Given the description of an element on the screen output the (x, y) to click on. 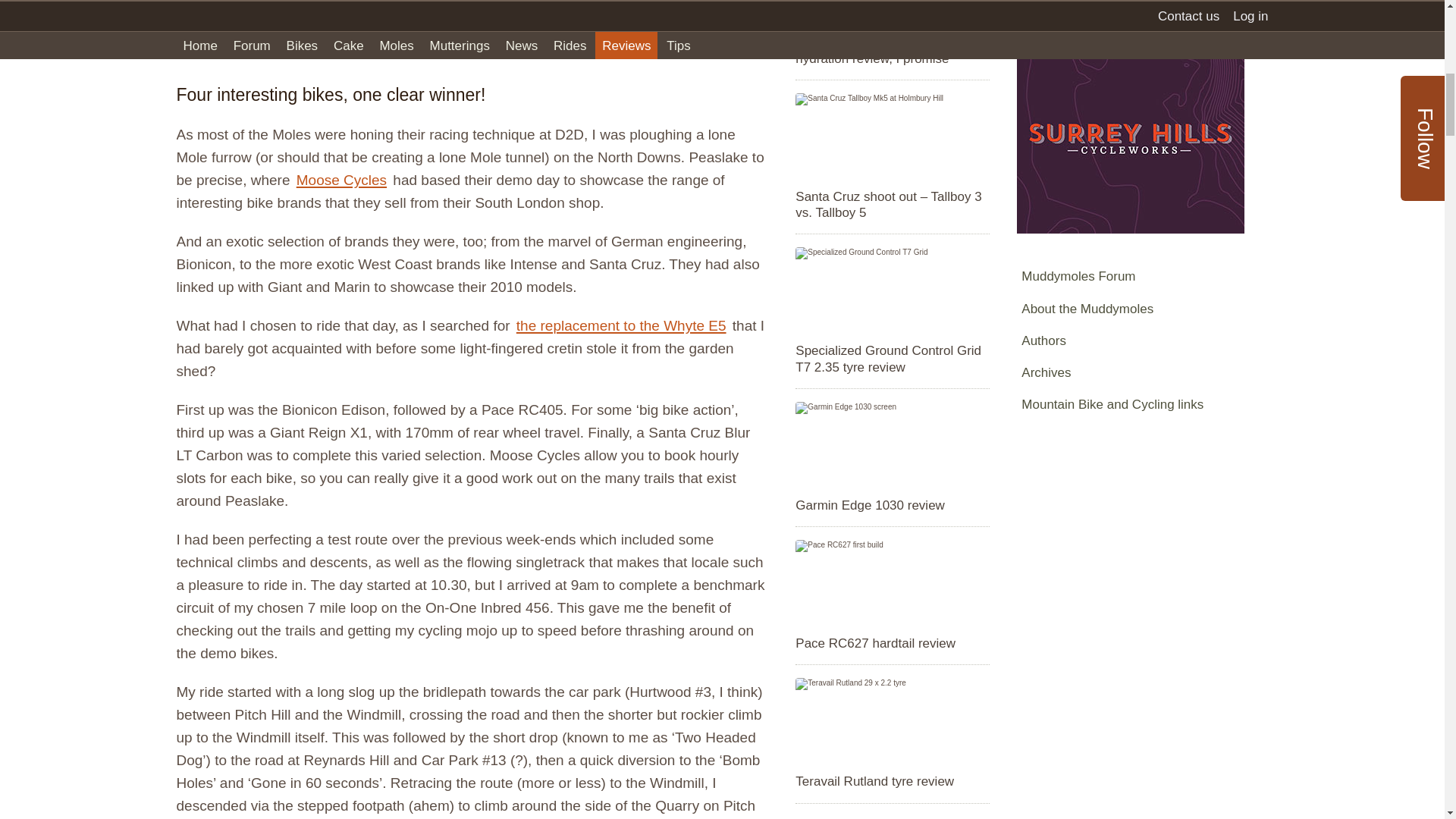
Read 'Specialized Ground Control Grid T7 2.35 tyre review' (892, 359)
Read 'Garmin Edge 1030 review' (892, 505)
